Given the description of an element on the screen output the (x, y) to click on. 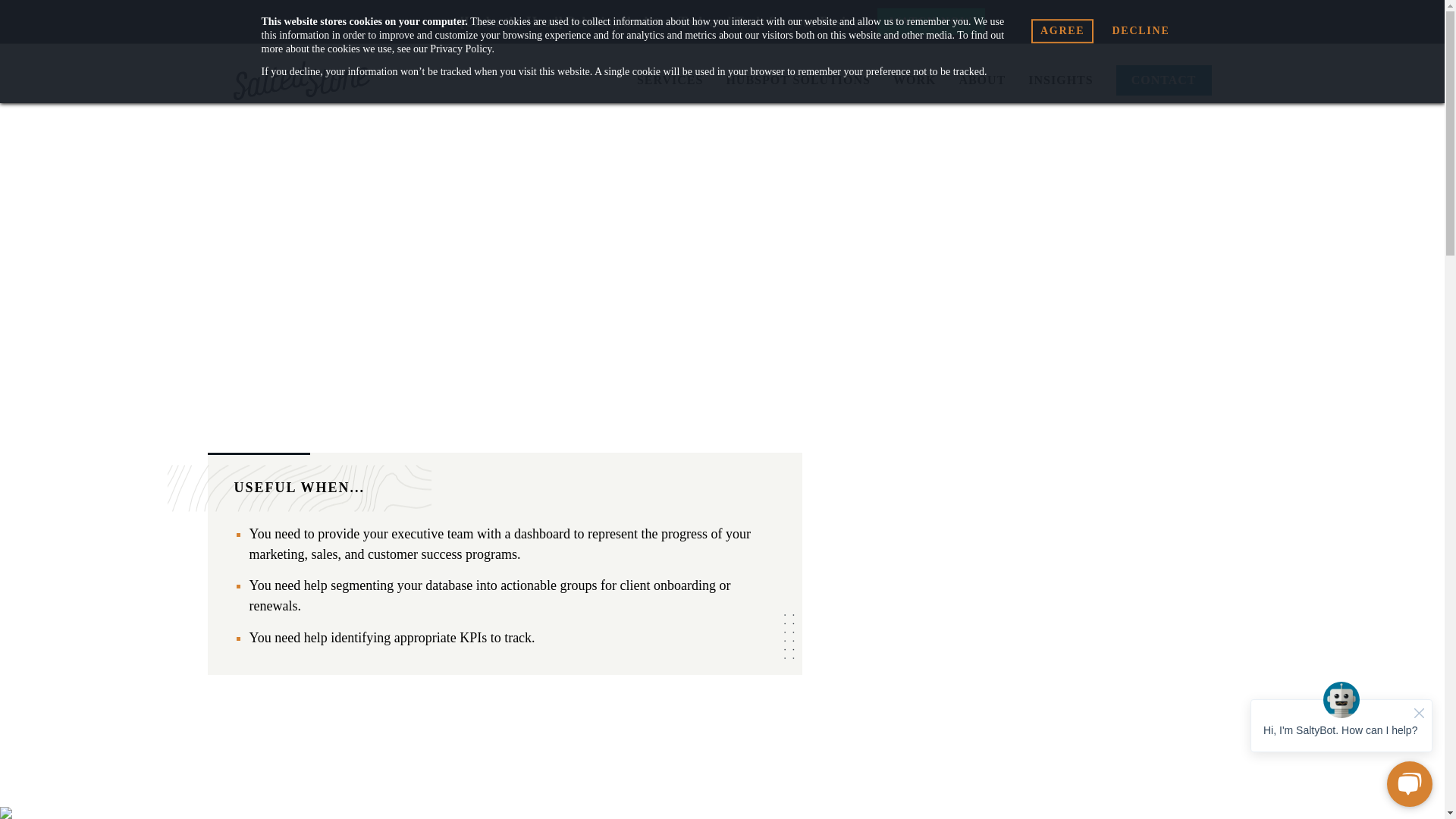
DECLINE (1139, 30)
AGREE (1062, 30)
HUBSPOT SOLUTIONS (797, 80)
CONTACT (1163, 80)
logo-vector (300, 80)
WATCH NOW (931, 21)
SERVICES (670, 80)
